Given the description of an element on the screen output the (x, y) to click on. 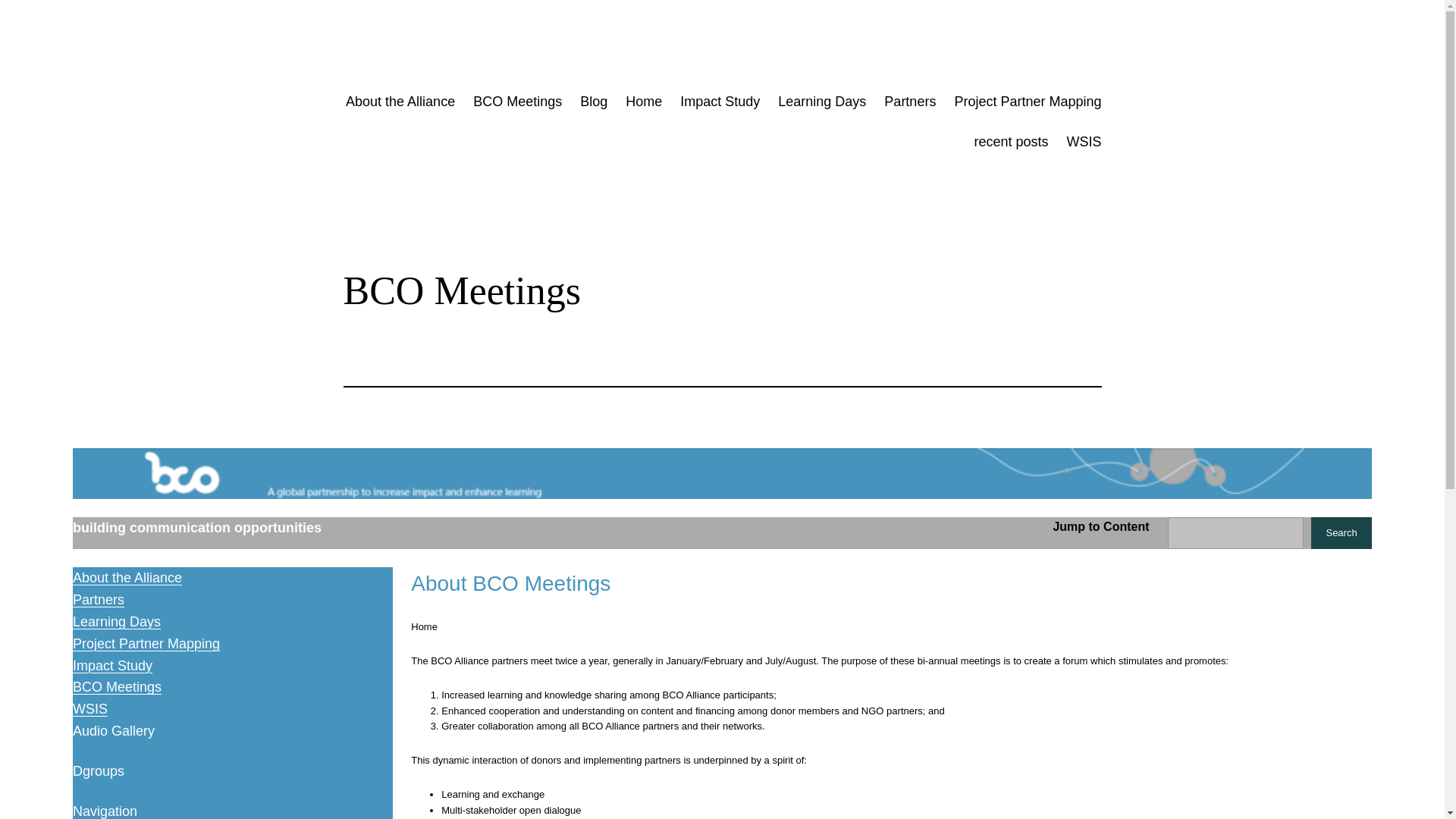
BCO Meetings (517, 101)
Blog (593, 101)
Project Partner Mapping (1026, 101)
Impact Study (719, 101)
BCO Meetings (116, 686)
Partners (909, 101)
recent posts (1011, 142)
About the Alliance (127, 577)
Learning Days (116, 621)
Learning Days (821, 101)
